Given the description of an element on the screen output the (x, y) to click on. 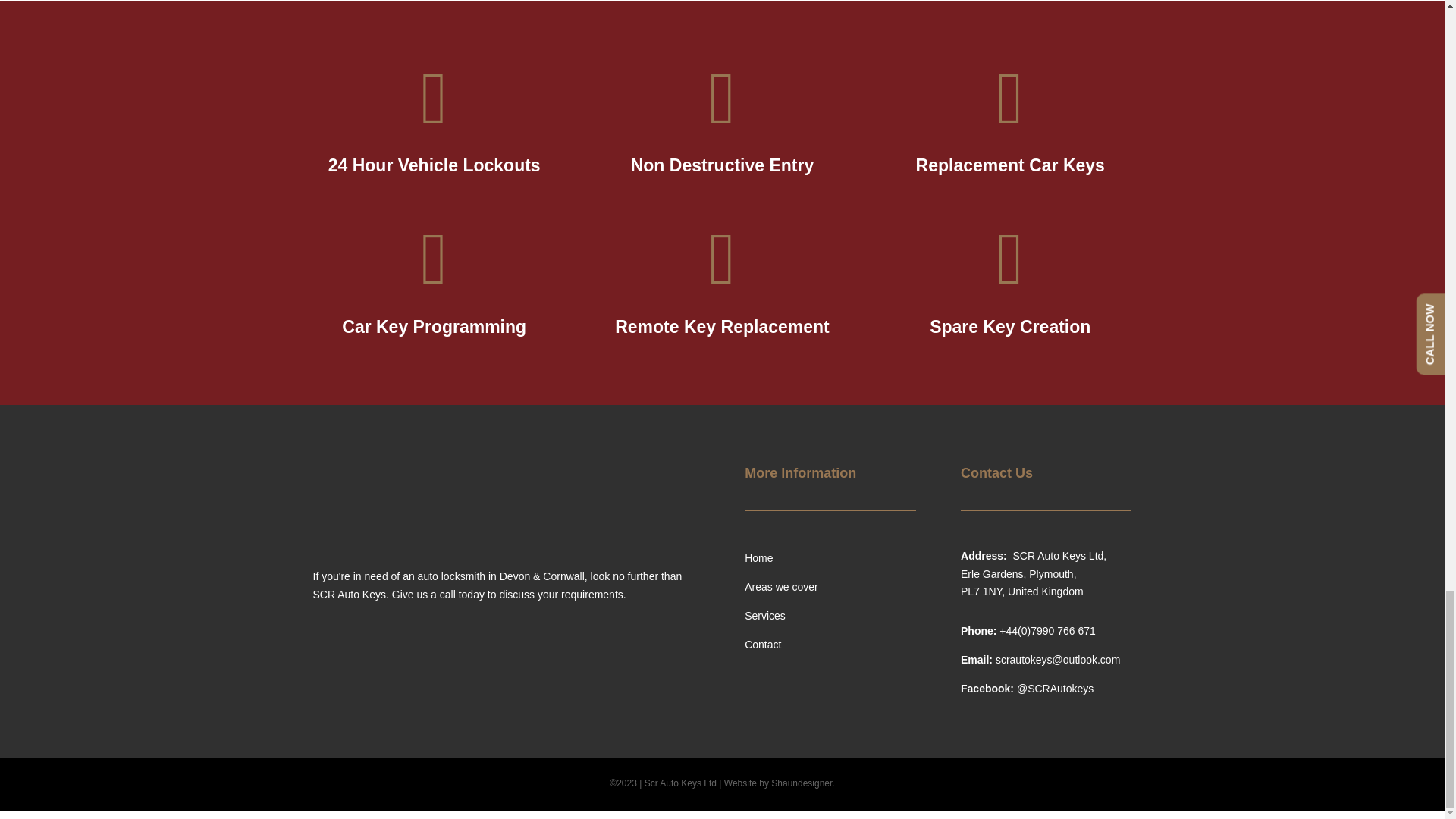
Contact (762, 644)
Home (758, 558)
Services (765, 615)
Areas we cover (780, 586)
